Given the description of an element on the screen output the (x, y) to click on. 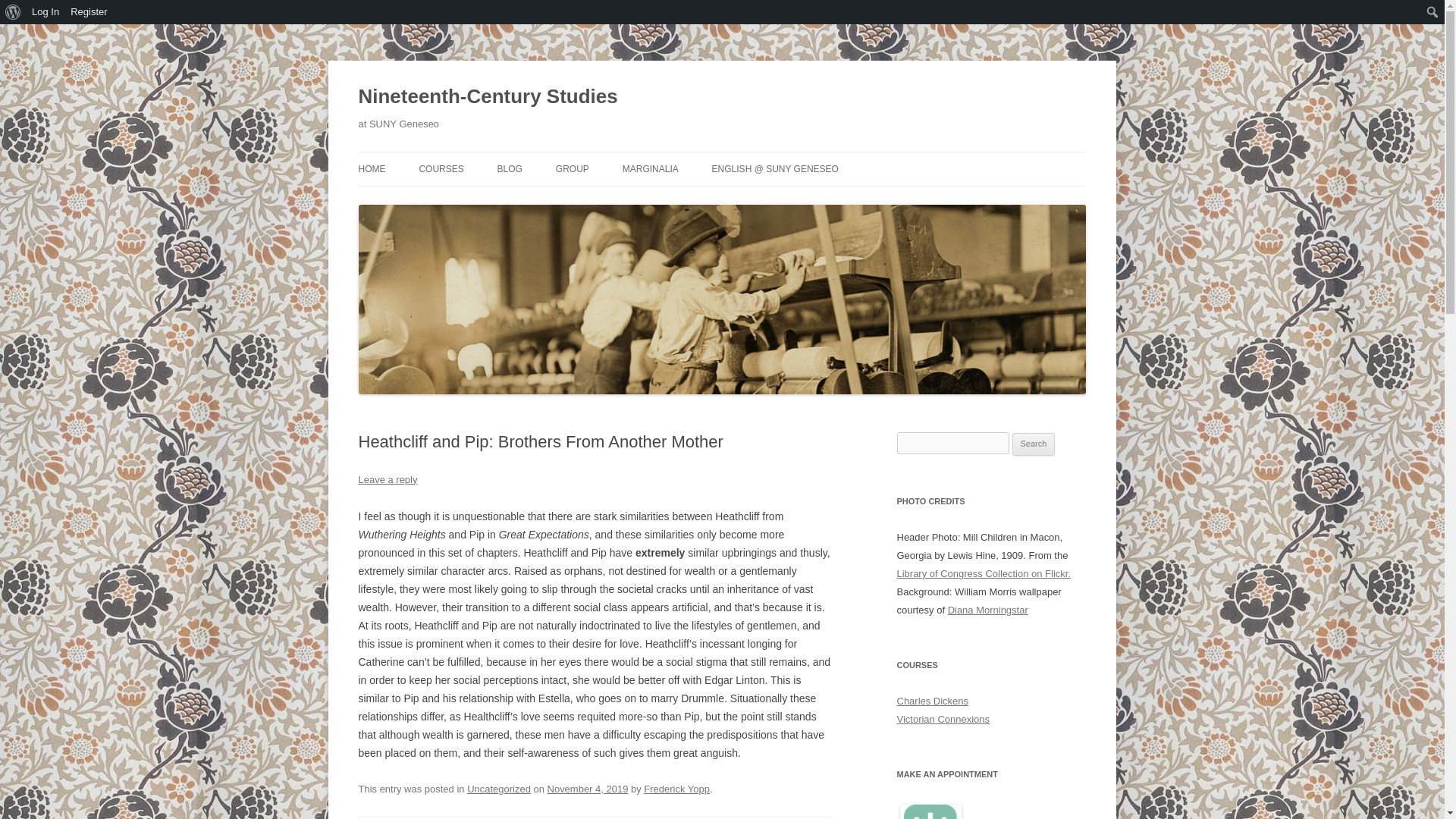
November 4, 2019 (587, 788)
Nineteenth-Century Studies (487, 96)
Charles Dickens (932, 700)
Log In (45, 12)
Leave a reply (387, 479)
CHARLES DICKENS (494, 201)
HOME (371, 168)
Search (16, 12)
Search (1033, 444)
View all posts by Frederick Yopp (676, 788)
Uncategorized (499, 788)
Register (89, 12)
Search (1033, 444)
BLOG (509, 168)
